Given the description of an element on the screen output the (x, y) to click on. 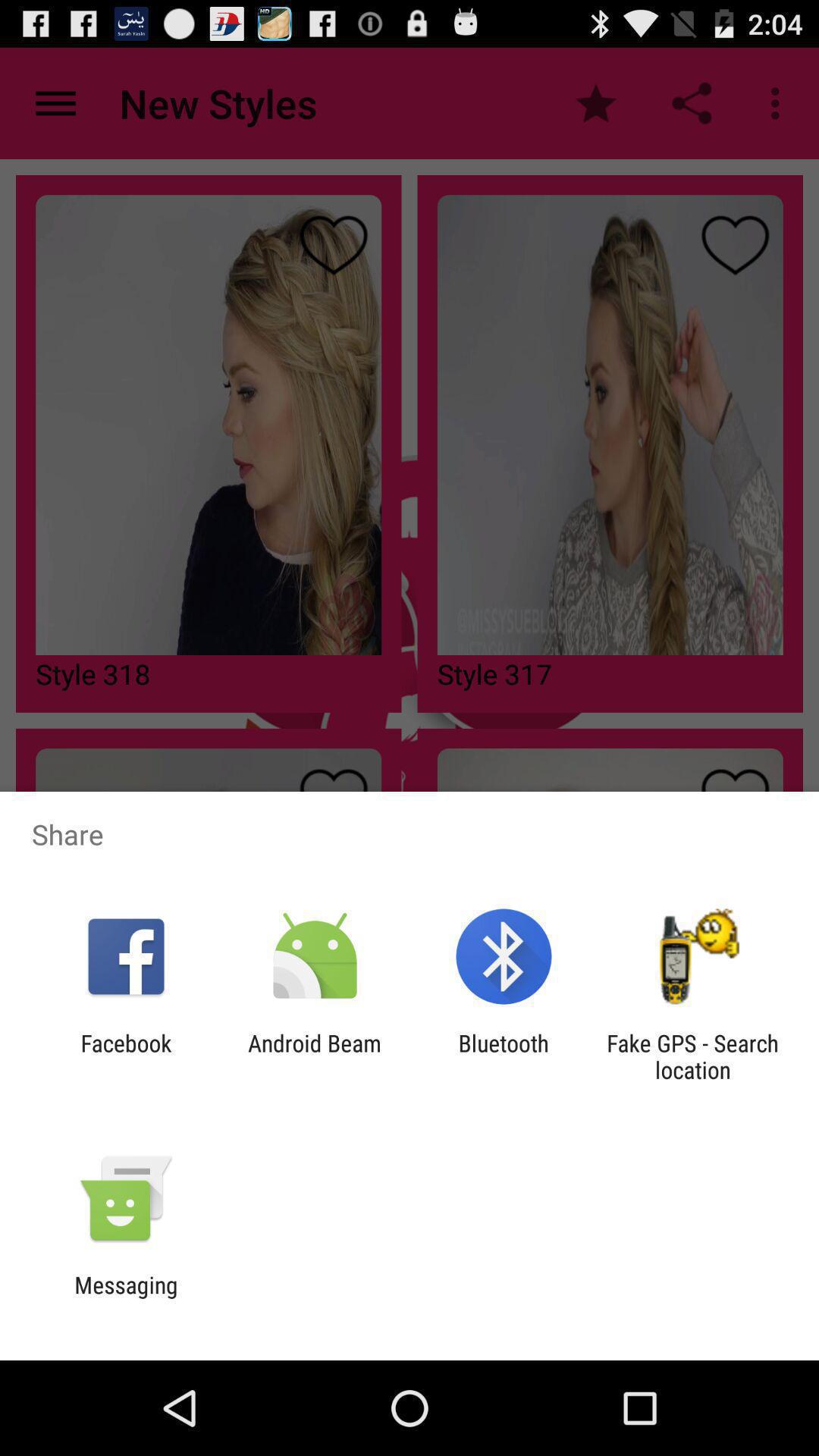
choose item to the left of fake gps search item (503, 1056)
